Given the description of an element on the screen output the (x, y) to click on. 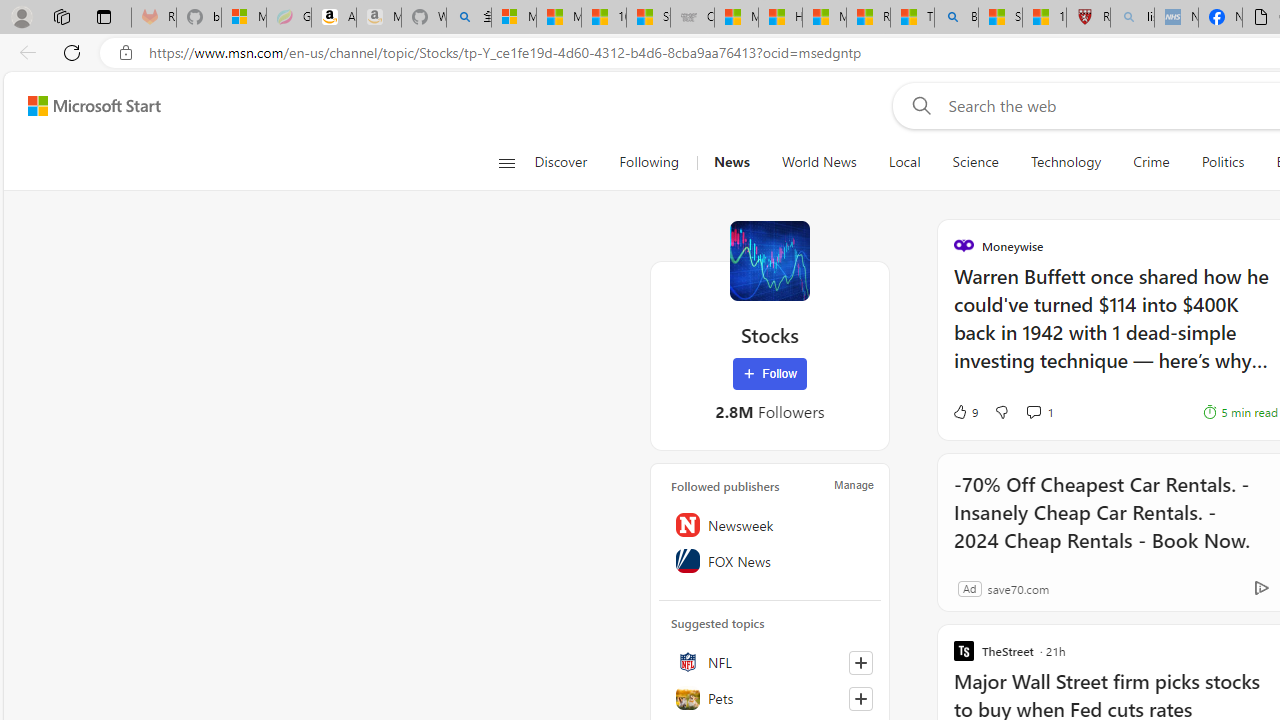
Manage (854, 484)
Local (903, 162)
Skip to content (86, 105)
Bing (955, 17)
Skip to footer (82, 105)
Class: button-glyph (505, 162)
Politics (1222, 162)
Recipes - MSN (868, 17)
View comments 1 Comment (1039, 412)
Follow this topic (860, 698)
News (731, 162)
